Given the description of an element on the screen output the (x, y) to click on. 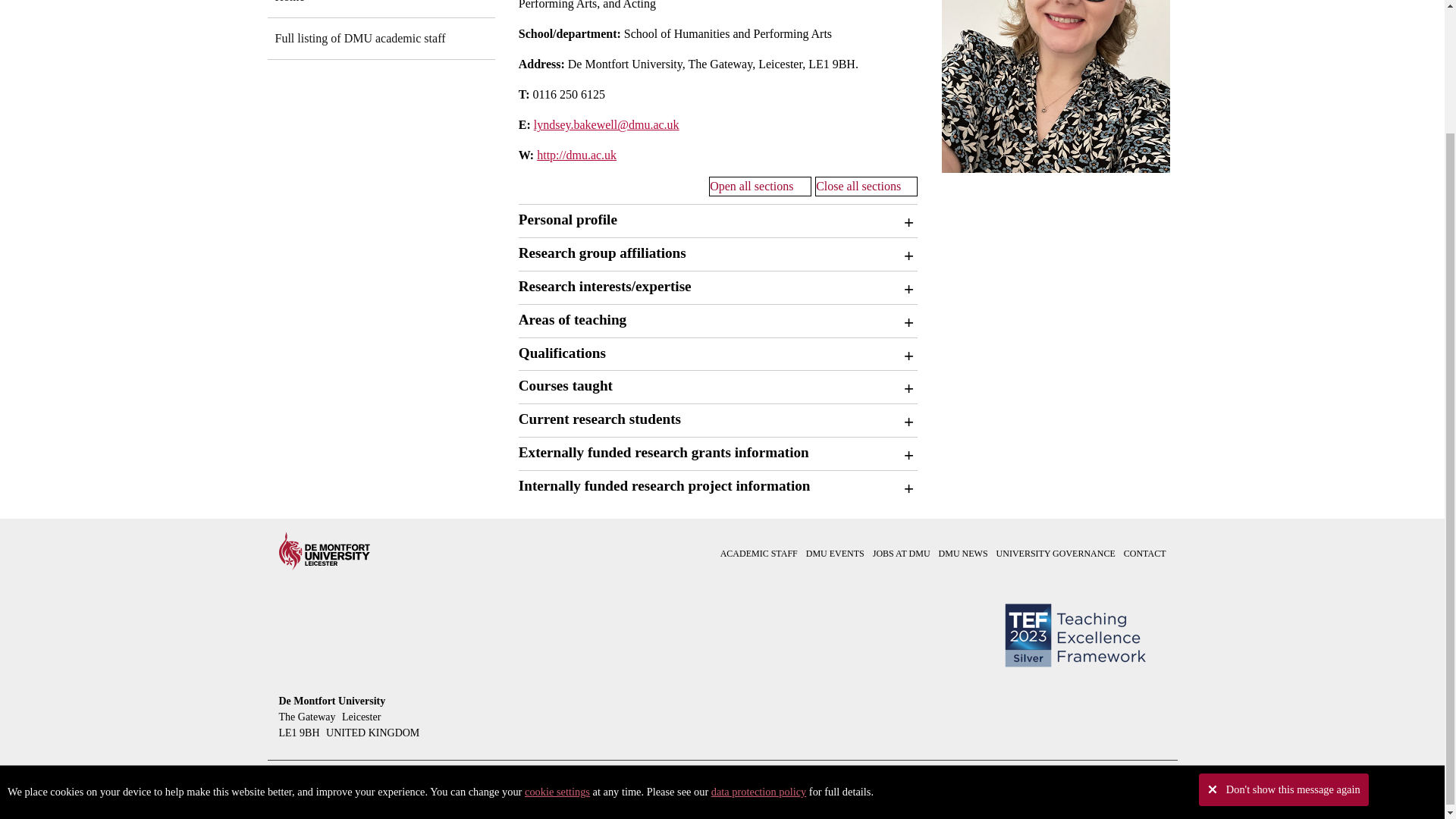
cookie settings (556, 642)
data protection policy (758, 642)
Home (380, 9)
Full listing of DMU academic staff (380, 38)
Don't show this message again (1283, 640)
Cookies (556, 642)
Data Protection at DMU (758, 642)
